Given the description of an element on the screen output the (x, y) to click on. 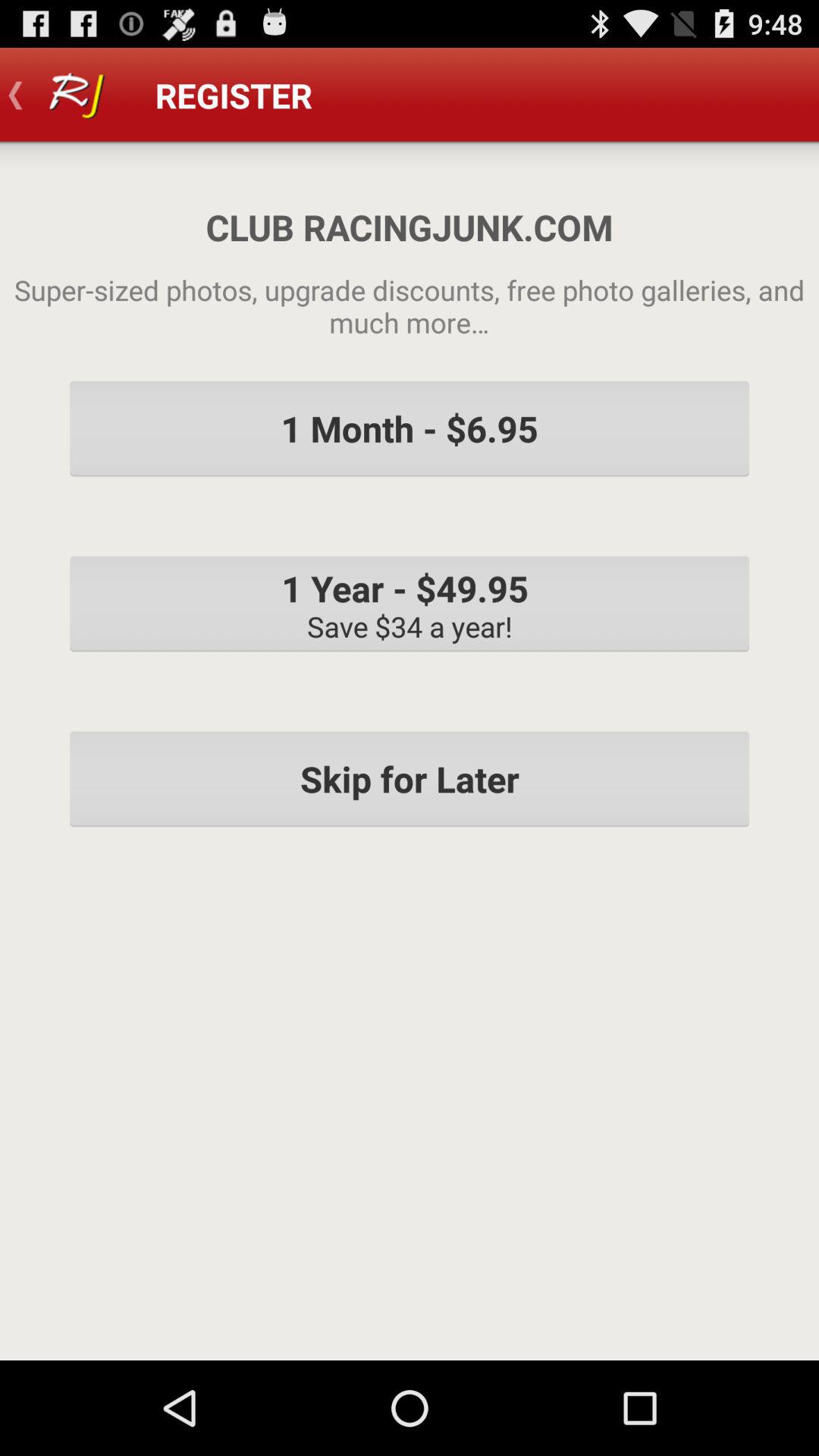
jump to skip for later icon (409, 778)
